Given the description of an element on the screen output the (x, y) to click on. 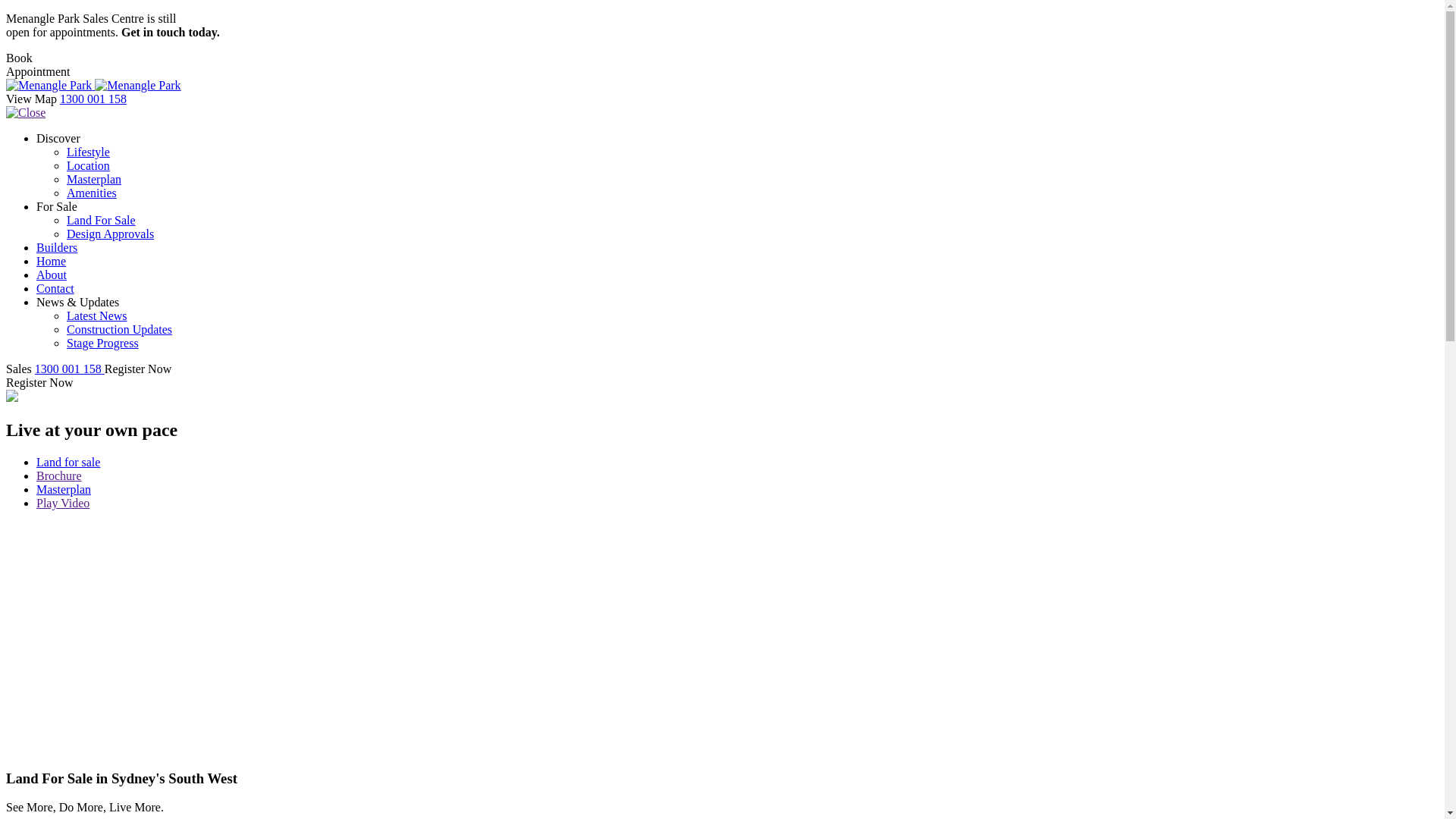
Brochure Element type: text (737, 475)
Masterplan Element type: text (93, 178)
Register Now Element type: text (39, 382)
For Sale Element type: text (56, 206)
Lifestyle Element type: text (87, 151)
Masterplan Element type: text (737, 489)
Discover Element type: text (58, 137)
Home Element type: text (50, 260)
Location Element type: text (87, 165)
Latest News Element type: text (96, 315)
Amenities Element type: text (91, 192)
News & Updates Element type: text (77, 301)
1300 001 158 Element type: text (69, 368)
Builders Element type: text (56, 247)
Design Approvals Element type: text (109, 233)
Register Now Element type: text (137, 368)
Stage Progress Element type: text (102, 342)
Construction Updates Element type: text (119, 329)
Sales Element type: text (20, 368)
View Map Element type: text (32, 98)
Book
Appointment Element type: text (37, 64)
About Element type: text (51, 274)
Land for sale Element type: text (737, 461)
Play Video Element type: text (737, 502)
Land For Sale Element type: text (100, 219)
Contact Element type: text (55, 288)
1300 001 158 Element type: text (92, 98)
